Given the description of an element on the screen output the (x, y) to click on. 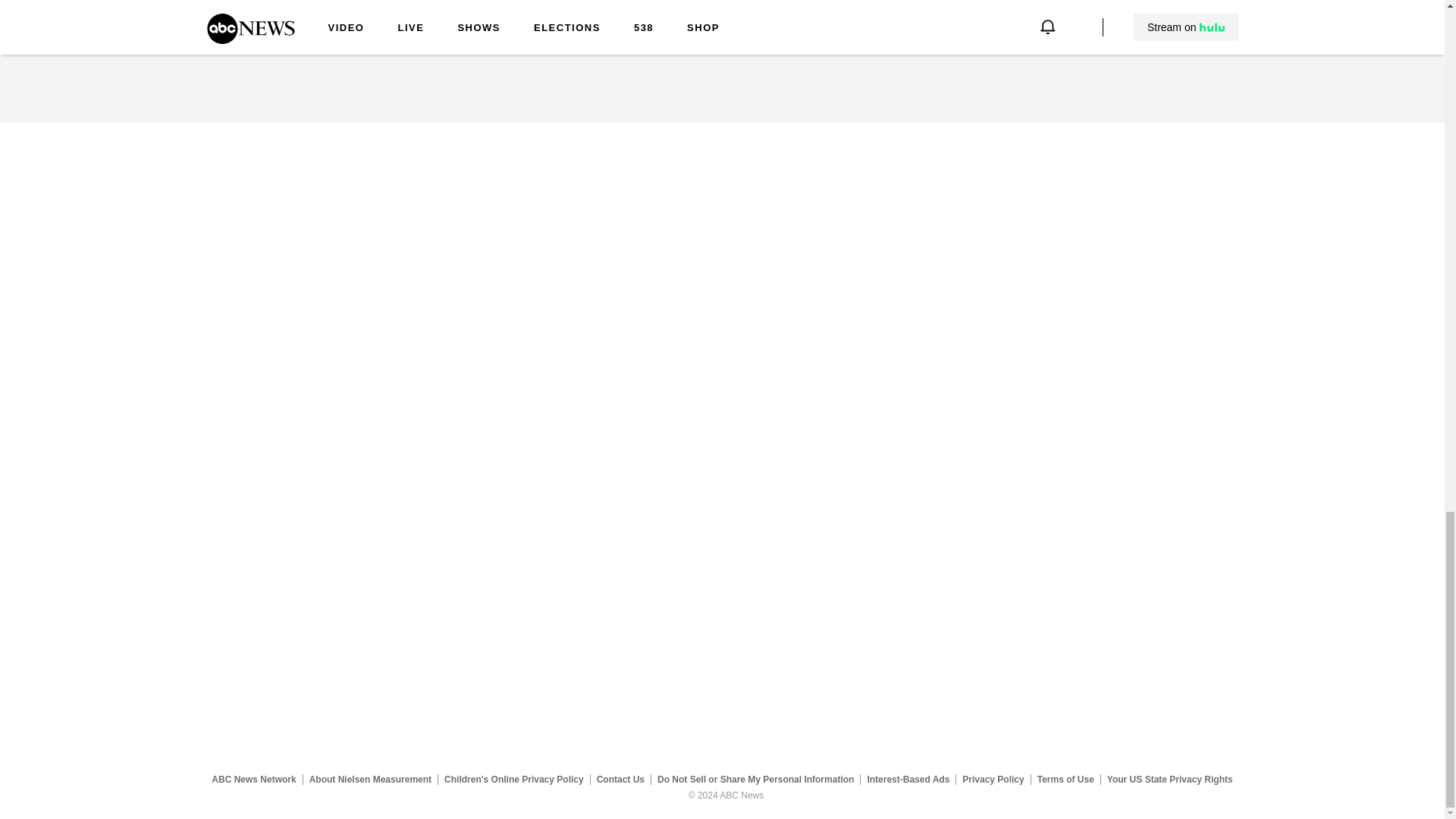
Children's Online Privacy Policy (514, 778)
Your US State Privacy Rights (1169, 778)
Do Not Sell or Share My Personal Information (755, 778)
ABC News Network (253, 778)
Privacy Policy (993, 778)
Contact Us (620, 778)
Terms of Use (1065, 778)
Interest-Based Ads (908, 778)
About Nielsen Measurement (370, 778)
